Given the description of an element on the screen output the (x, y) to click on. 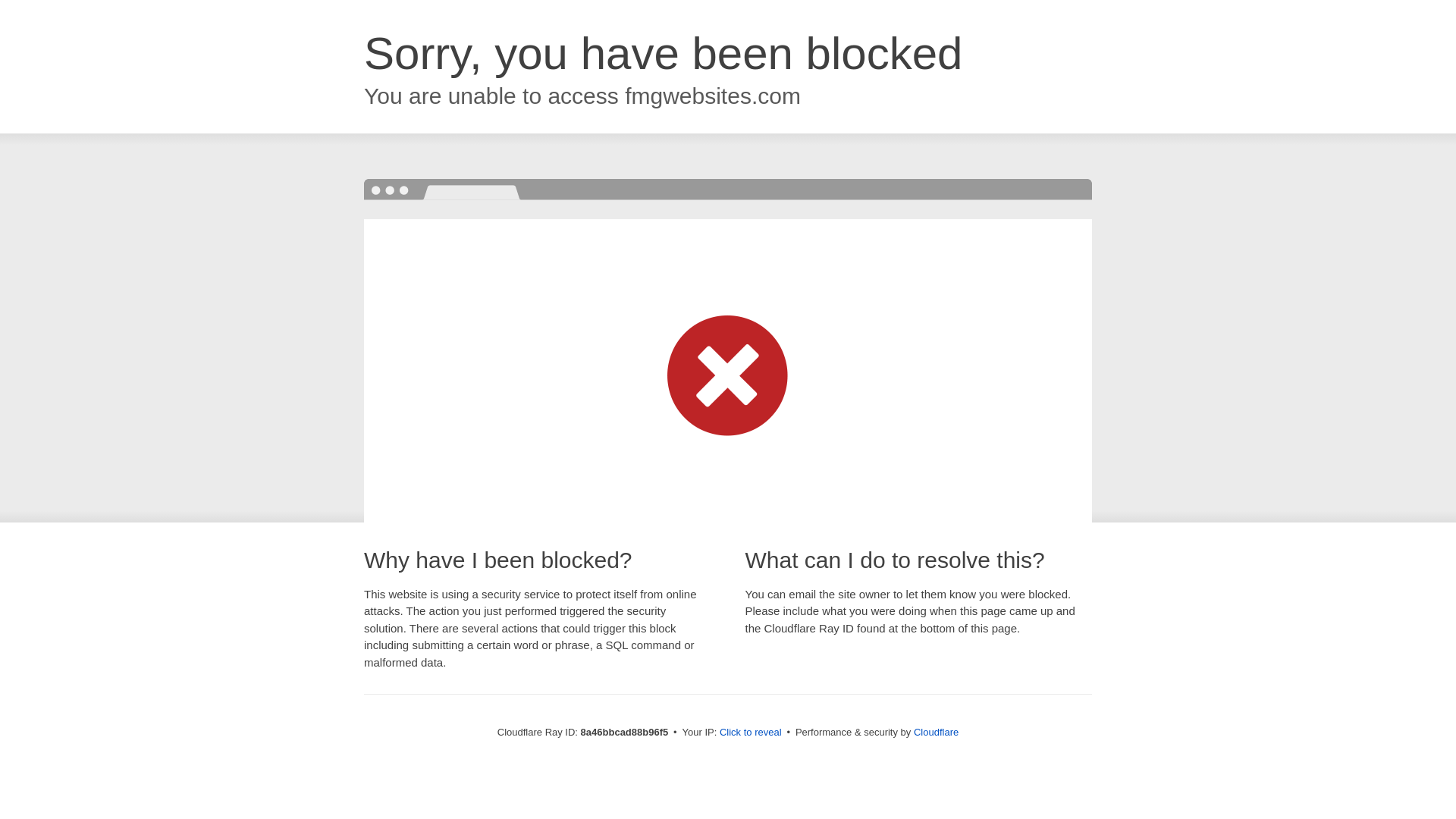
Click to reveal (750, 732)
Cloudflare (936, 731)
